Given the description of an element on the screen output the (x, y) to click on. 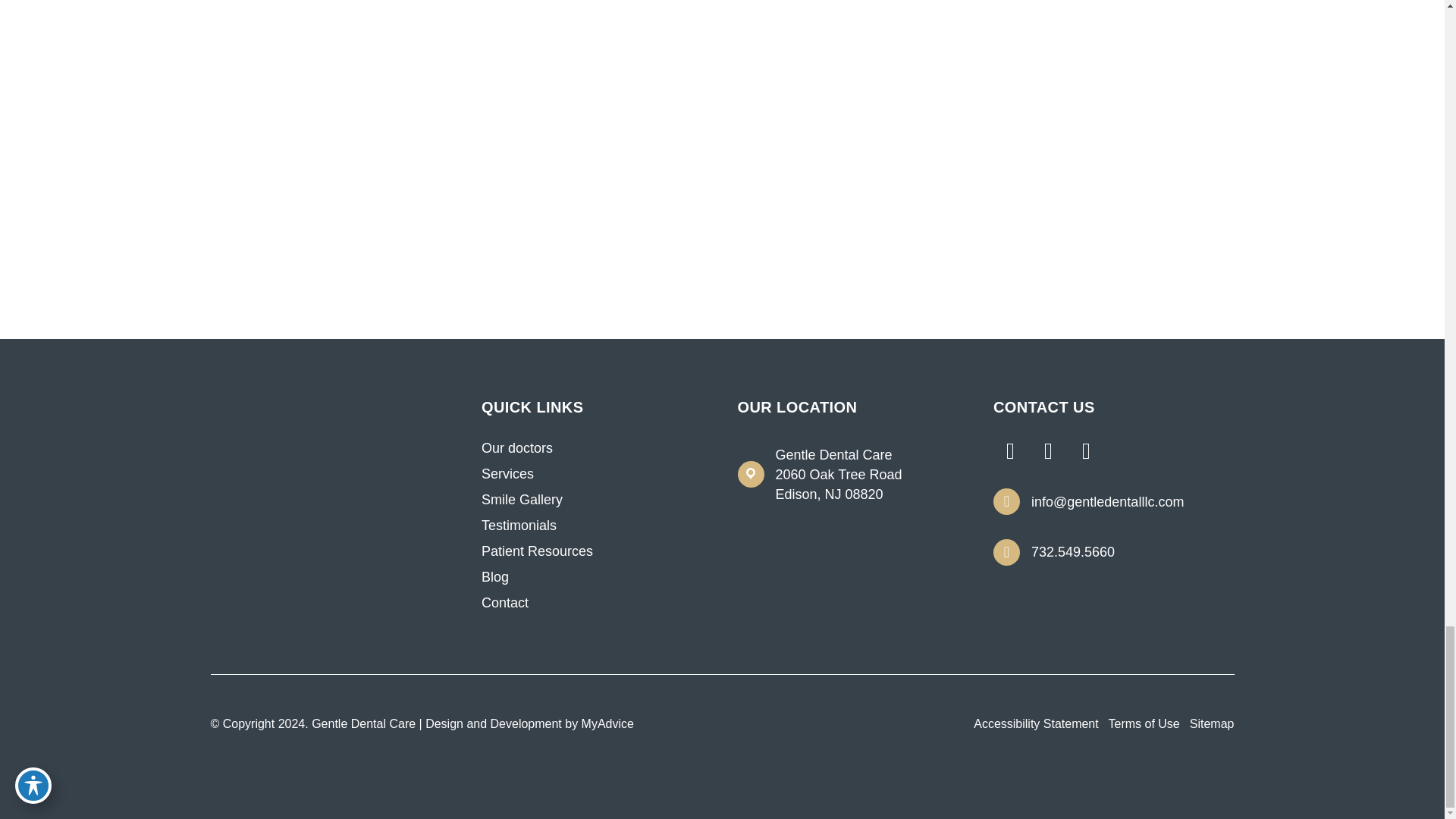
7cQKt EI (338, 417)
